Given the description of an element on the screen output the (x, y) to click on. 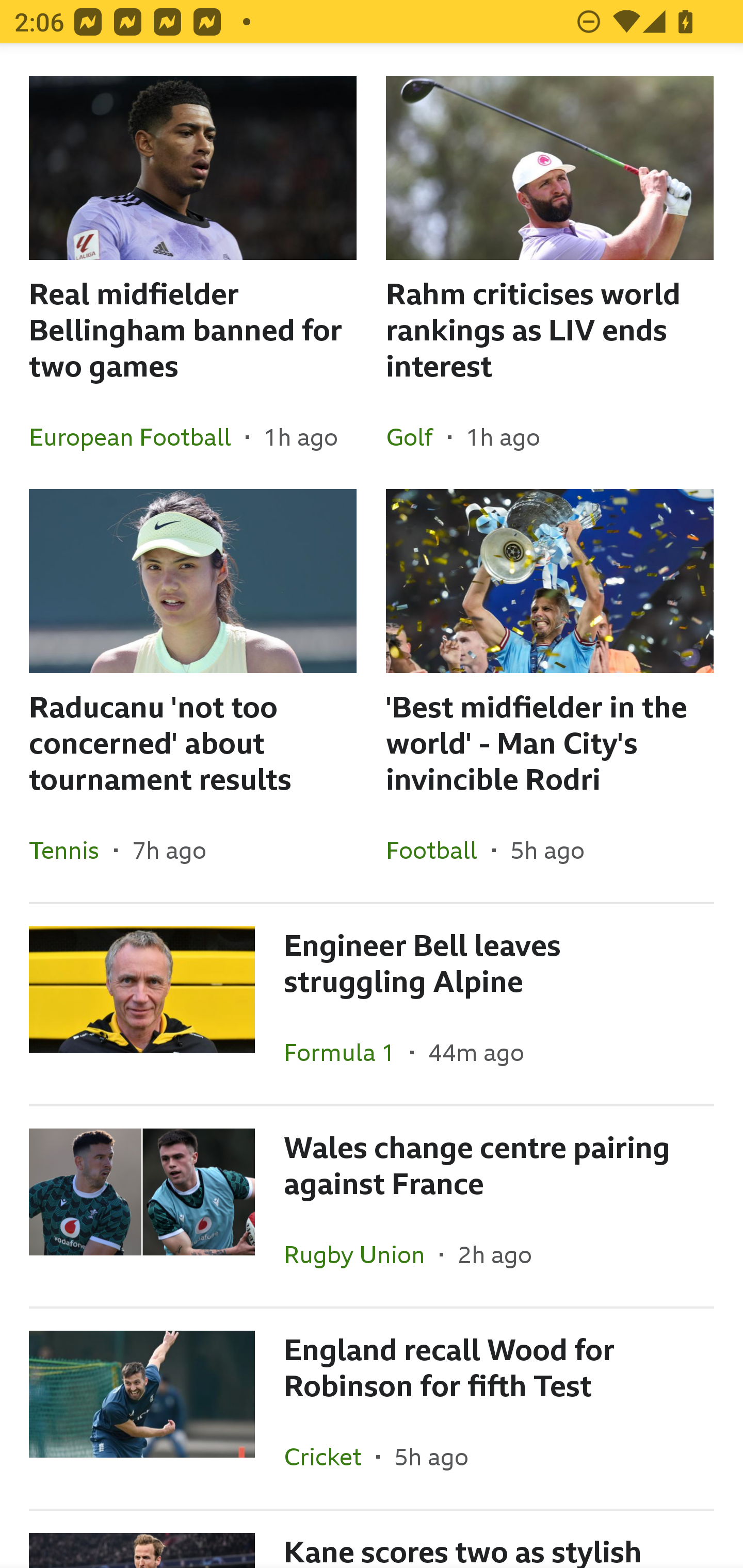
European Football In the section European Football (136, 436)
Golf In the section Golf (416, 436)
Tennis In the section Tennis (70, 849)
Football In the section Football (438, 849)
Formula 1 In the section Formula 1 (346, 1051)
Rugby Union In the section Rugby Union (361, 1254)
Cricket In the section Cricket (329, 1456)
